Given the description of an element on the screen output the (x, y) to click on. 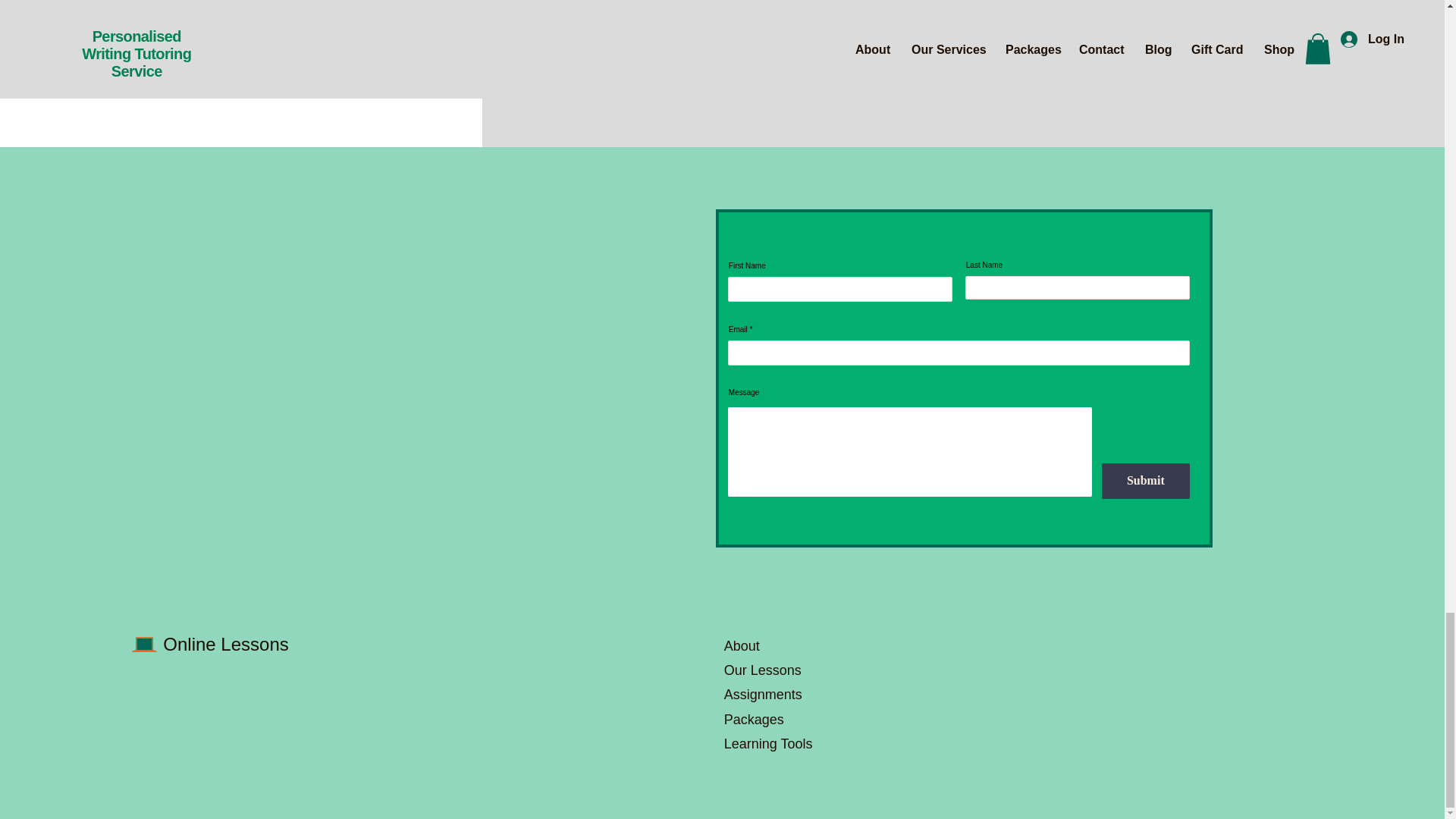
Our Lessons (762, 670)
Submit (1145, 480)
Learning Tools  (769, 743)
Packages (753, 719)
Assignments (762, 694)
Online Lessons (225, 643)
About (741, 645)
